Given the description of an element on the screen output the (x, y) to click on. 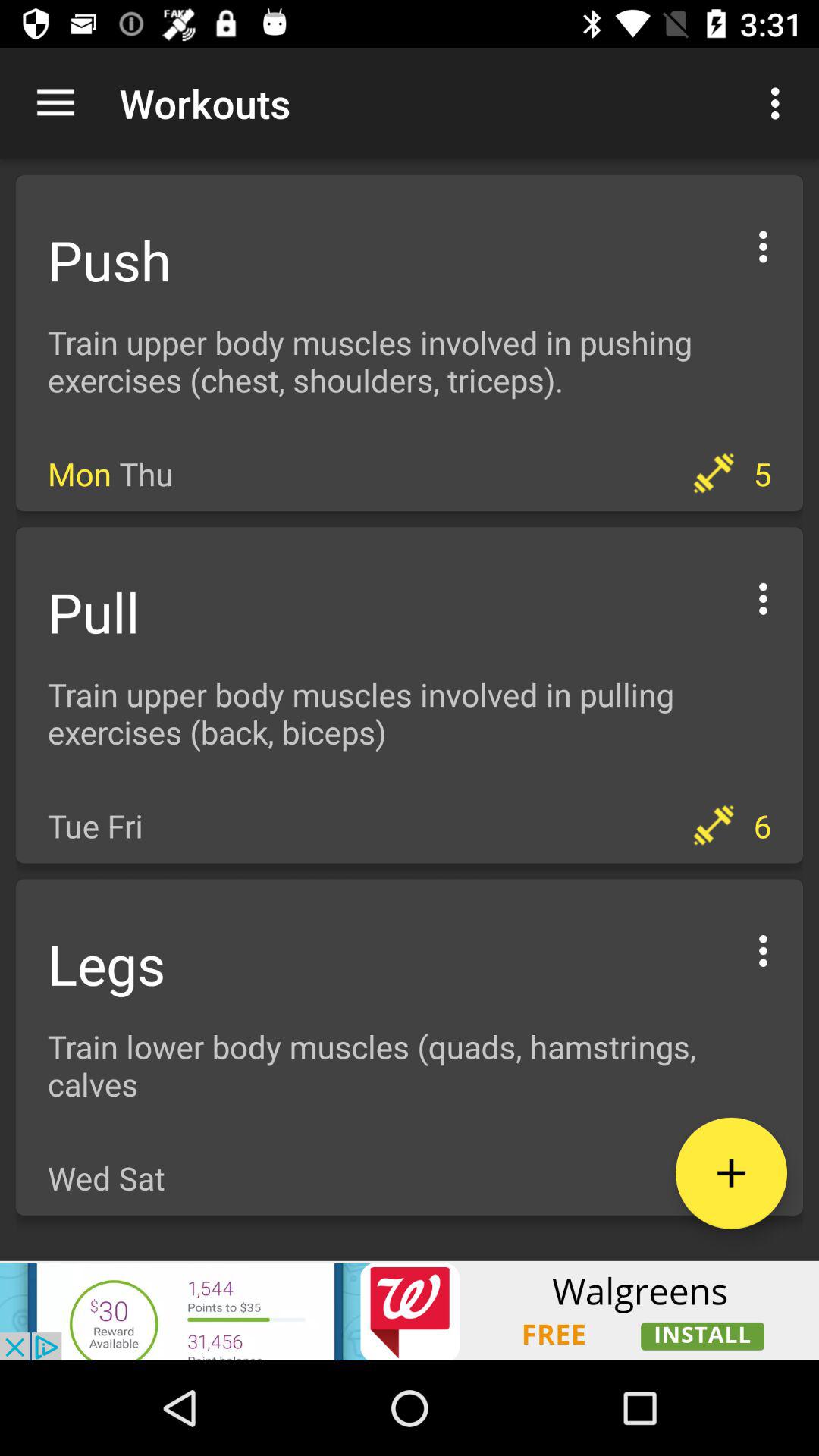
more options (763, 948)
